Given the description of an element on the screen output the (x, y) to click on. 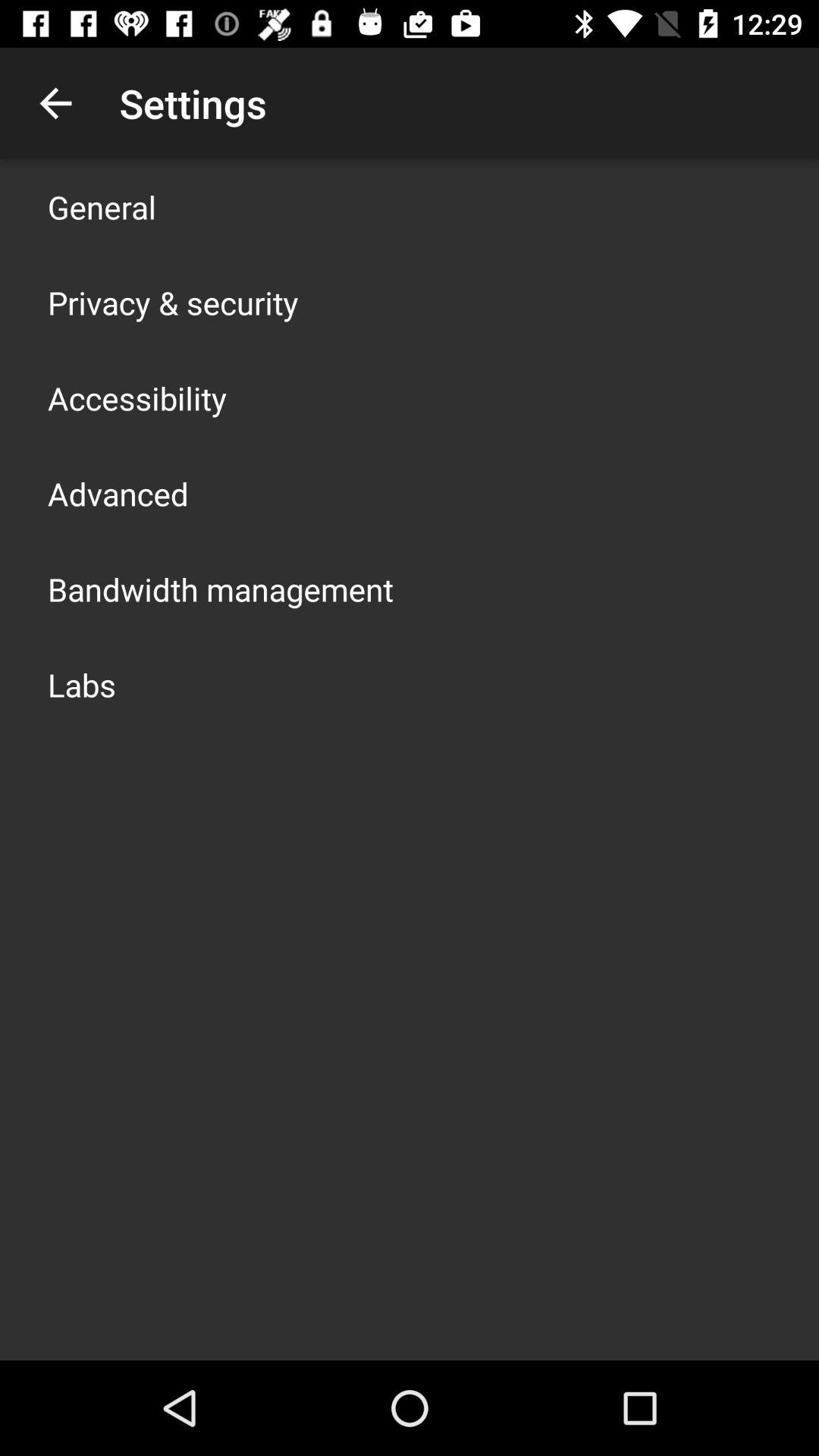
turn off icon above the bandwidth management icon (117, 493)
